Given the description of an element on the screen output the (x, y) to click on. 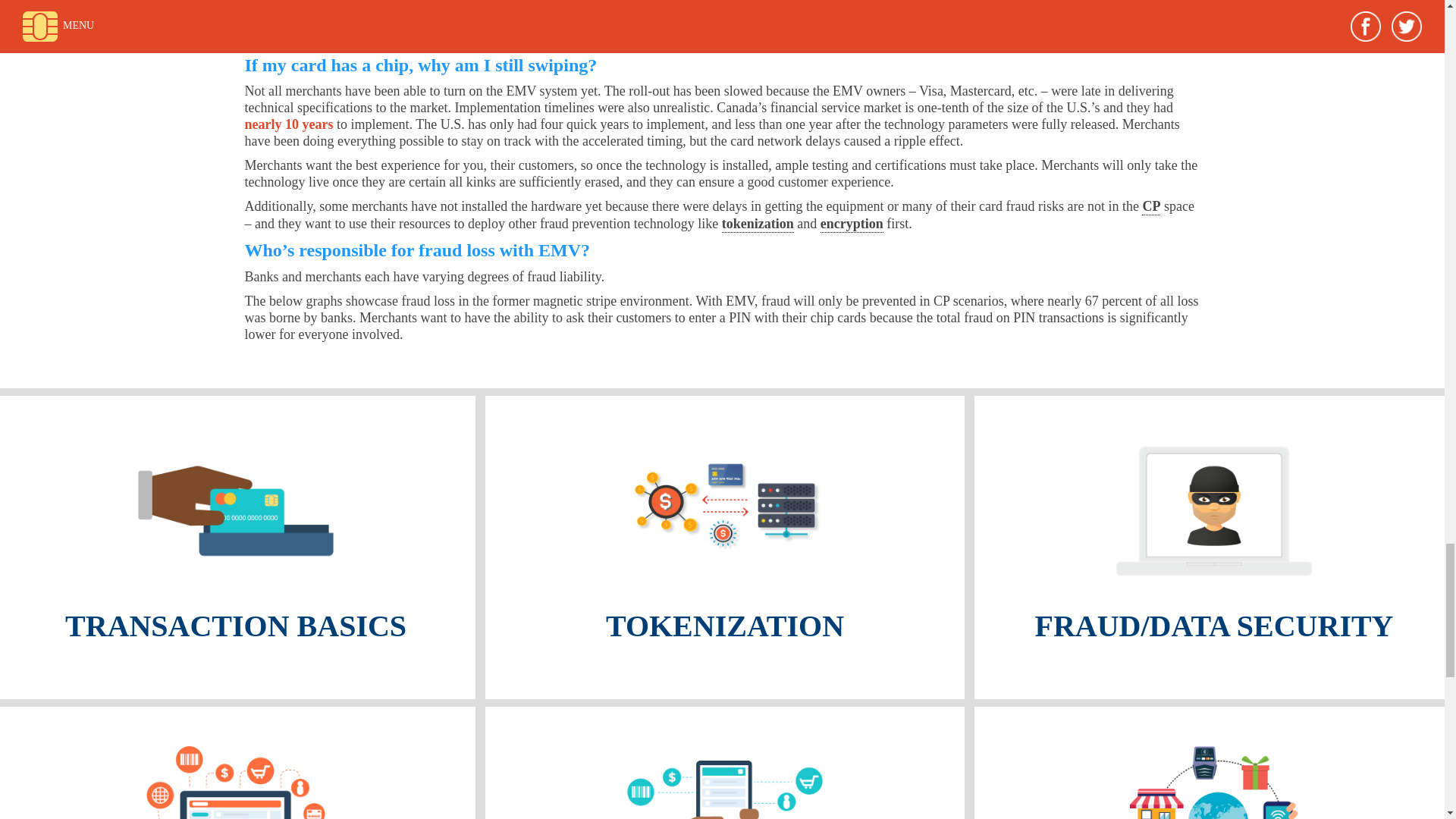
nearly 10 years (288, 124)
E-COMMERCE (238, 762)
MOBILE COMMERCE (723, 762)
FUTURE OF PAYMENTS (1213, 762)
